Given the description of an element on the screen output the (x, y) to click on. 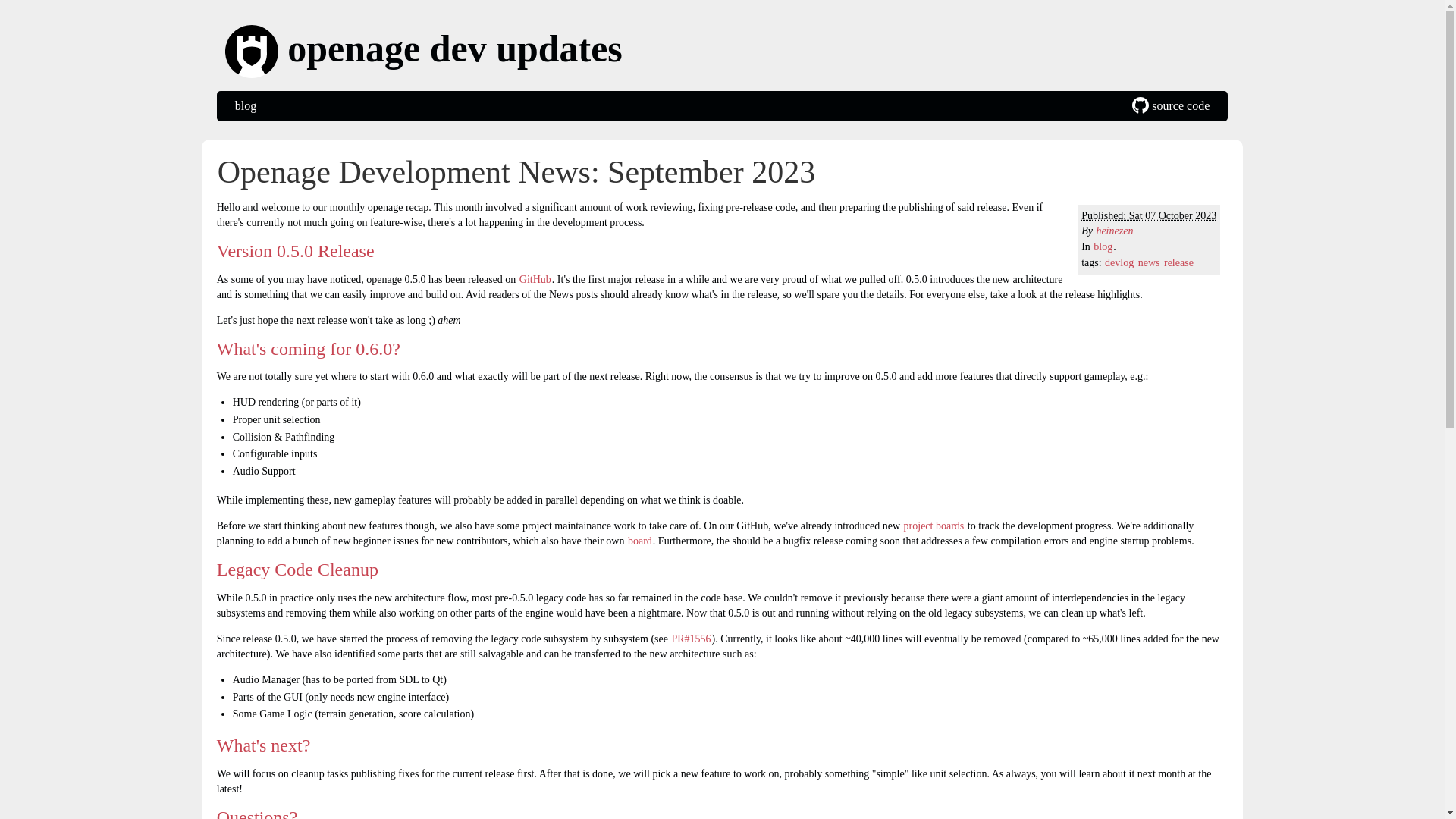
blog (1103, 246)
board (639, 541)
devlog (1118, 262)
news (1148, 262)
openage dev updates (726, 52)
project boards (933, 525)
release (1178, 262)
source code (1170, 105)
Openage Development News: September 2023 (515, 171)
GitHub (534, 279)
